Given the description of an element on the screen output the (x, y) to click on. 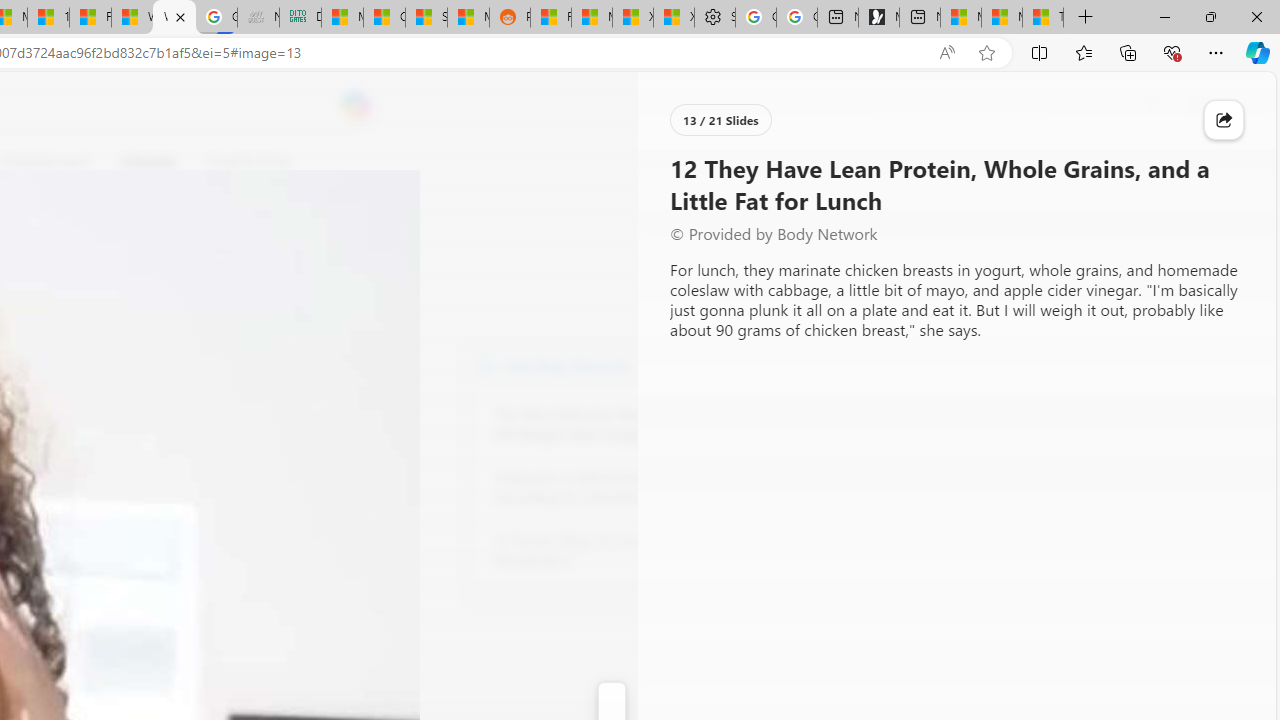
To get missing image descriptions, open the context menu. (671, 162)
Visit Body Network website (733, 364)
Lifestyle (148, 162)
These 3 Stocks Pay You More Than 5% to Own Them (1042, 17)
8 Reasons to Drink Kombucha, According to a Nutritionist (603, 488)
Notifications (1192, 105)
14 Common Myths Debunked By Scientific Facts (48, 17)
MSN (468, 17)
